Given the description of an element on the screen output the (x, y) to click on. 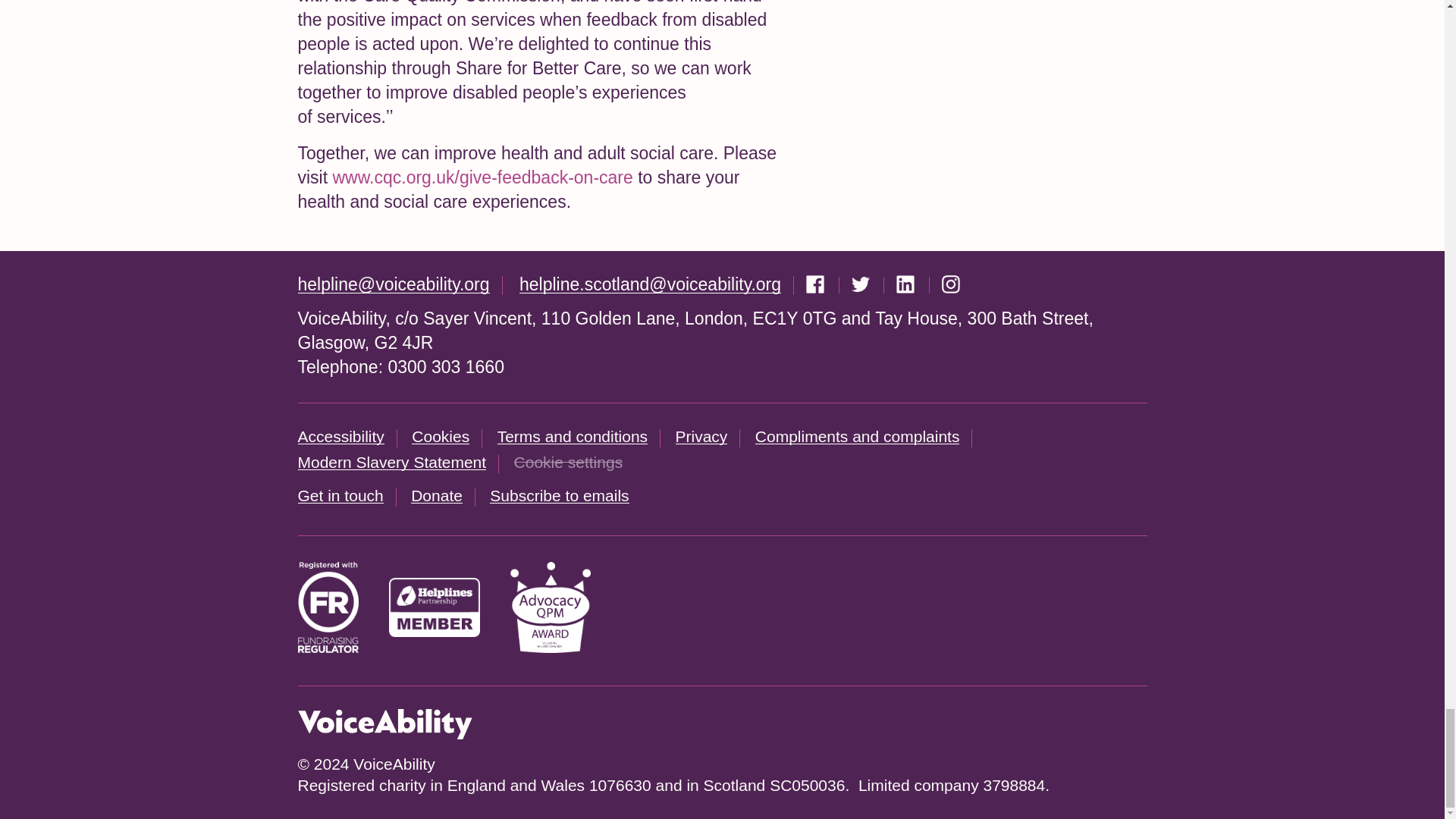
VoiceAbility logo (384, 724)
